Given the description of an element on the screen output the (x, y) to click on. 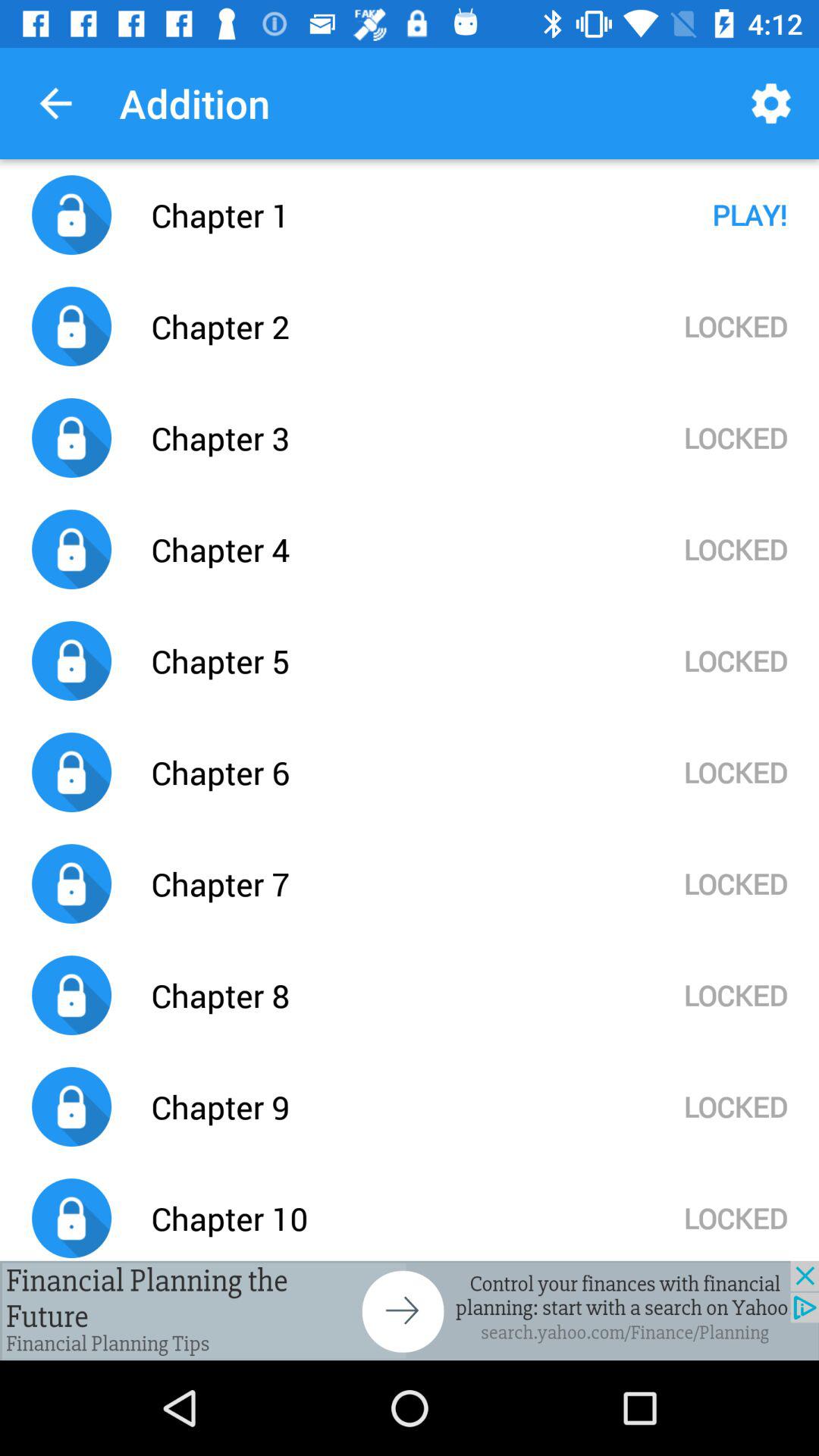
advertisement (409, 1310)
